Given the description of an element on the screen output the (x, y) to click on. 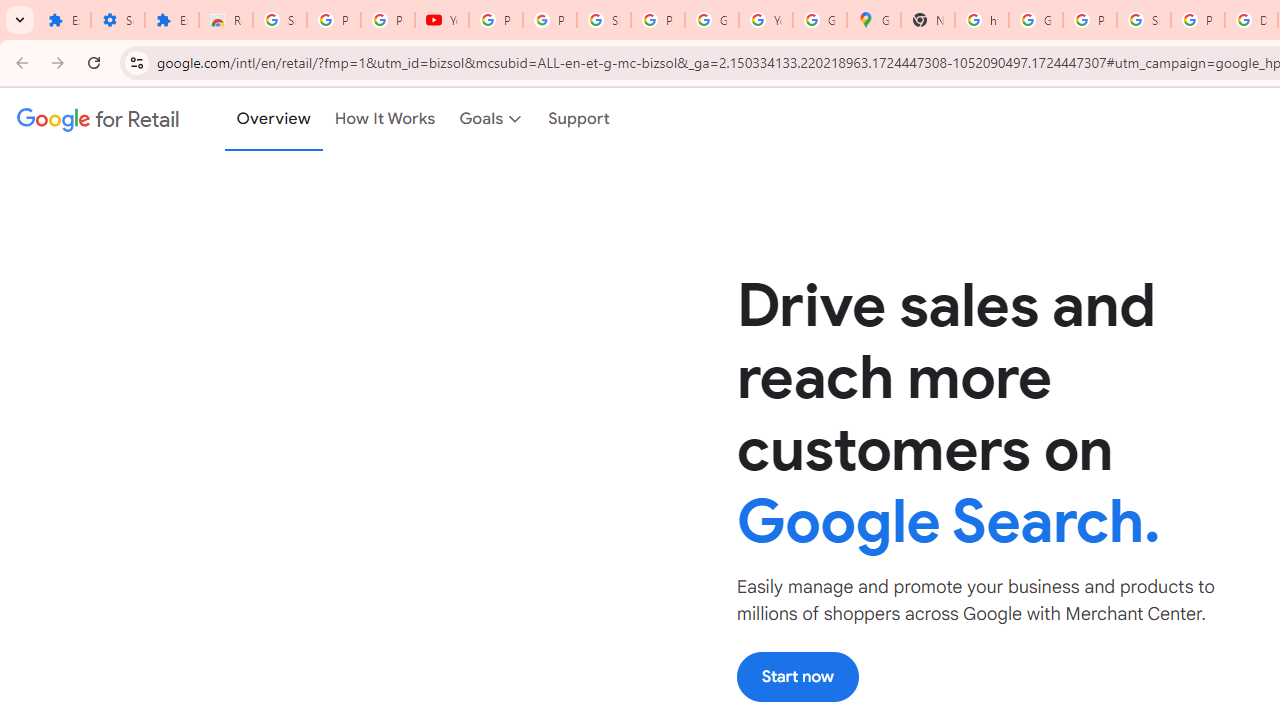
How It Works (385, 119)
Goals (491, 119)
Extensions (63, 20)
Sign in - Google Accounts (604, 20)
Google for Retail (98, 119)
Goals (491, 119)
Google Maps (874, 20)
